Given the description of an element on the screen output the (x, y) to click on. 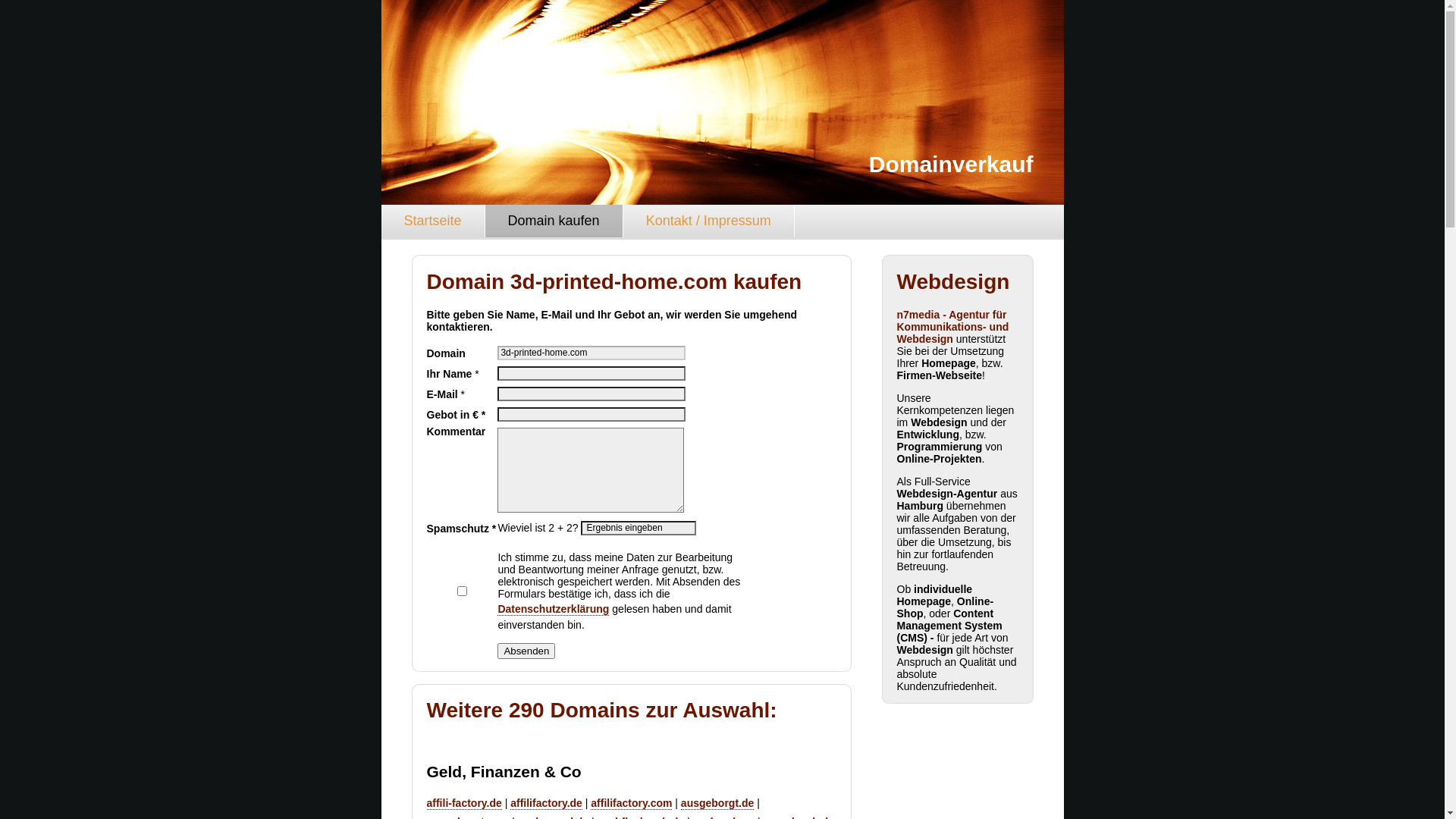
affilifactory.com Element type: text (630, 803)
Absenden Element type: text (526, 650)
Kontakt / Impressum Element type: text (708, 220)
Ergebnis eingeben Element type: text (638, 527)
affili-factory.de Element type: text (463, 803)
Domain kaufen Element type: text (554, 220)
affilifactory.de Element type: text (546, 803)
ausgeborgt.de Element type: text (716, 803)
Startseite Element type: text (432, 220)
